Given the description of an element on the screen output the (x, y) to click on. 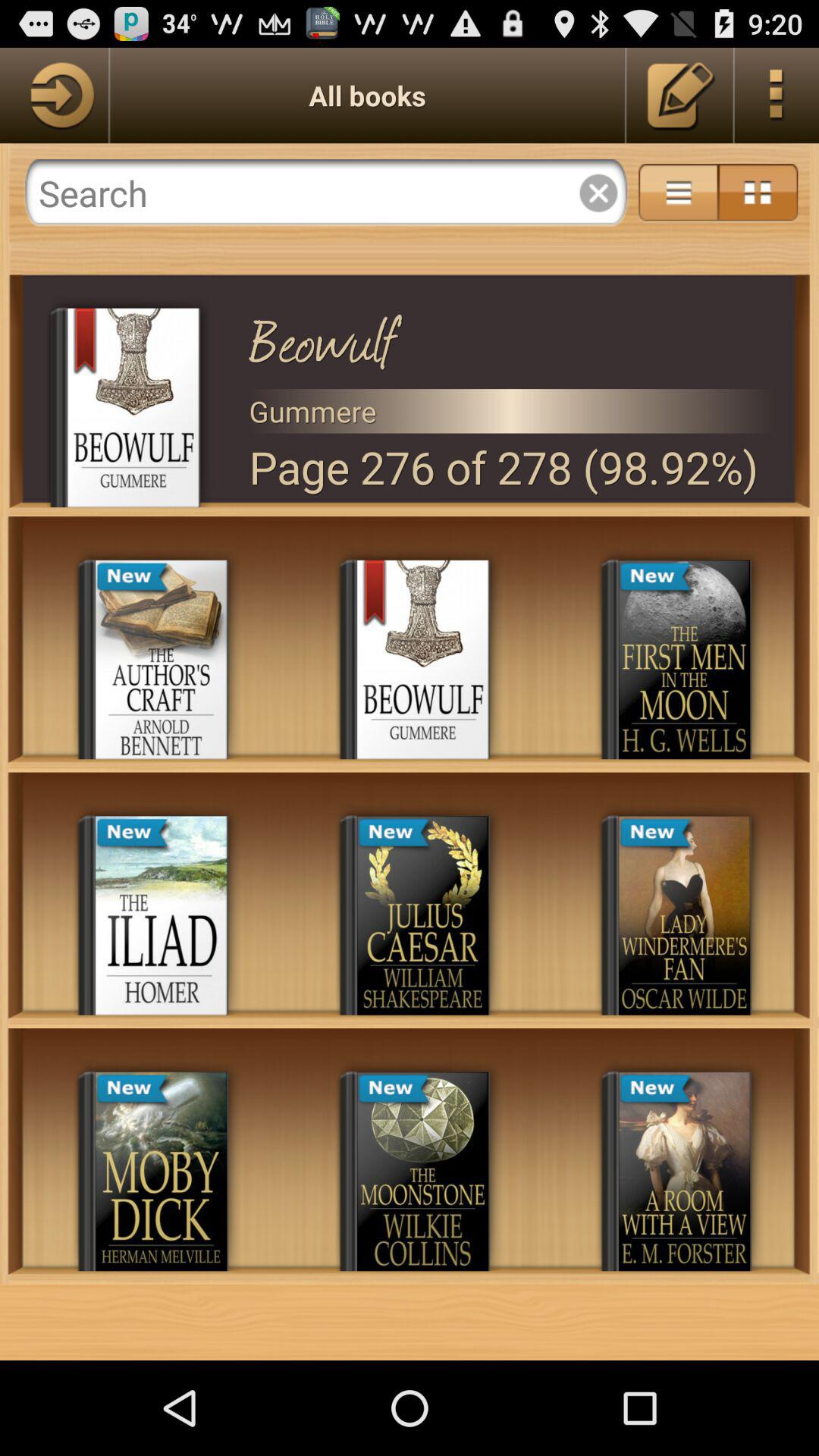
search bar (325, 192)
